Given the description of an element on the screen output the (x, y) to click on. 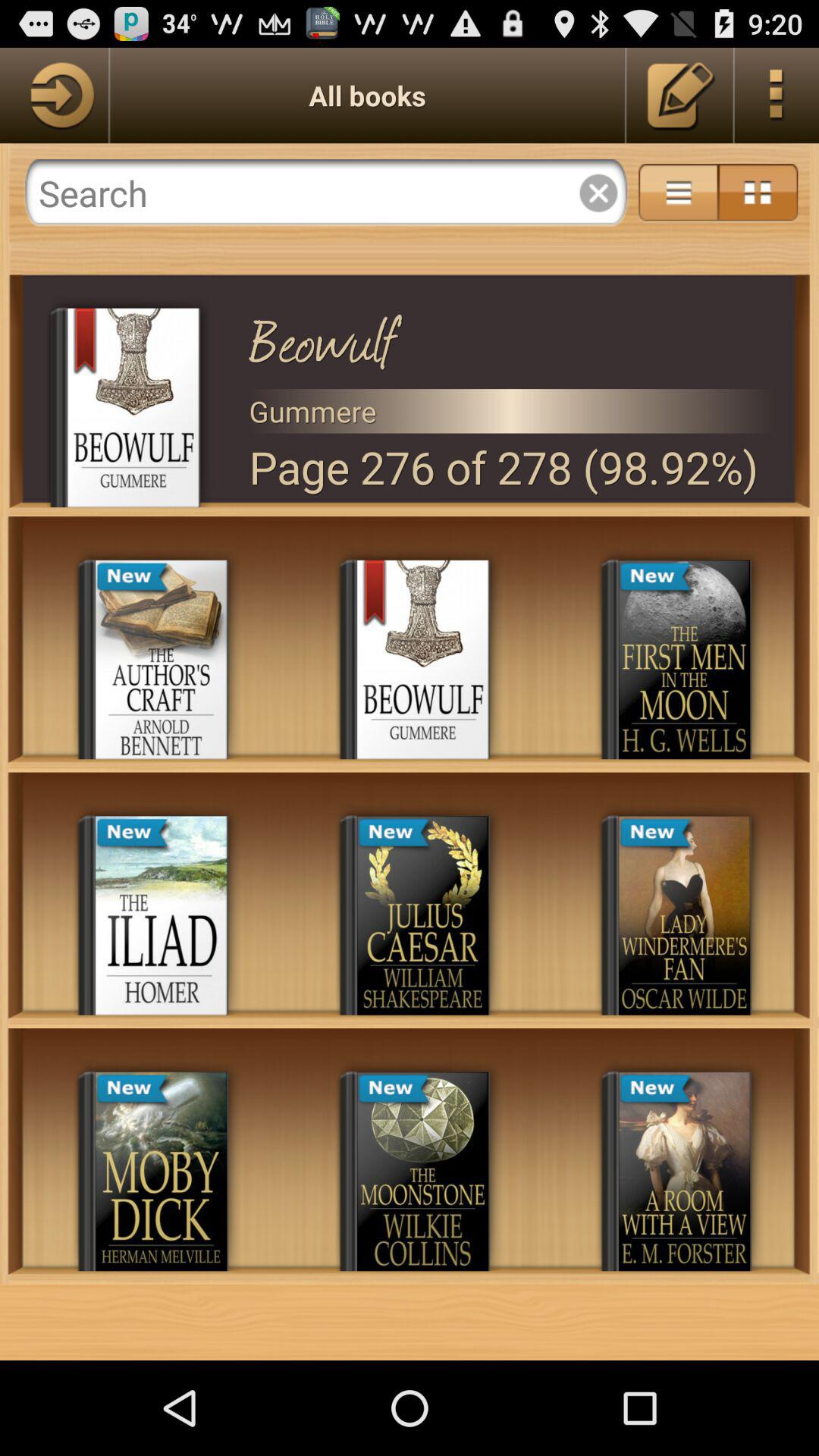
search bar (325, 192)
